Given the description of an element on the screen output the (x, y) to click on. 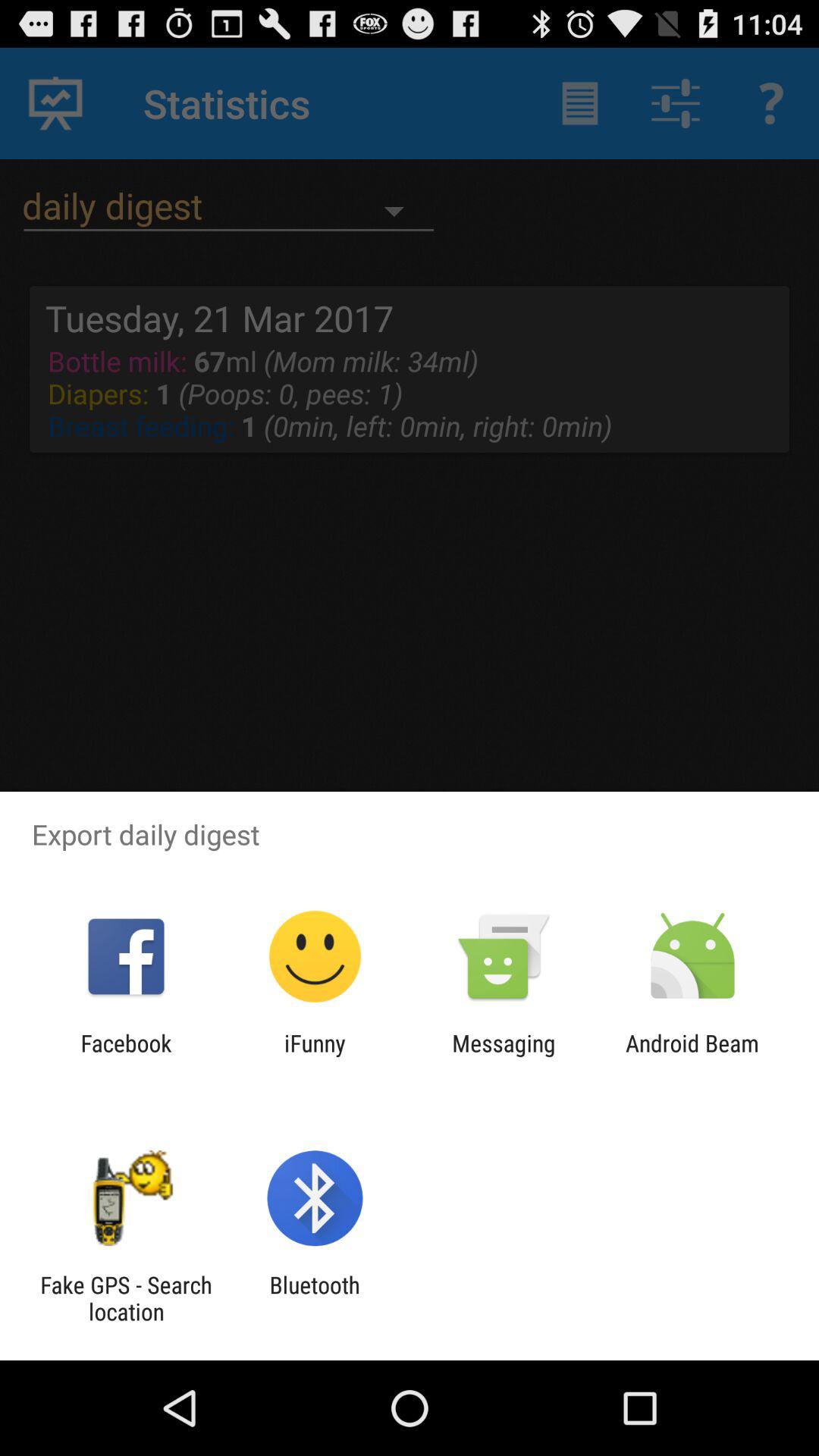
turn on app to the left of the bluetooth app (125, 1298)
